Given the description of an element on the screen output the (x, y) to click on. 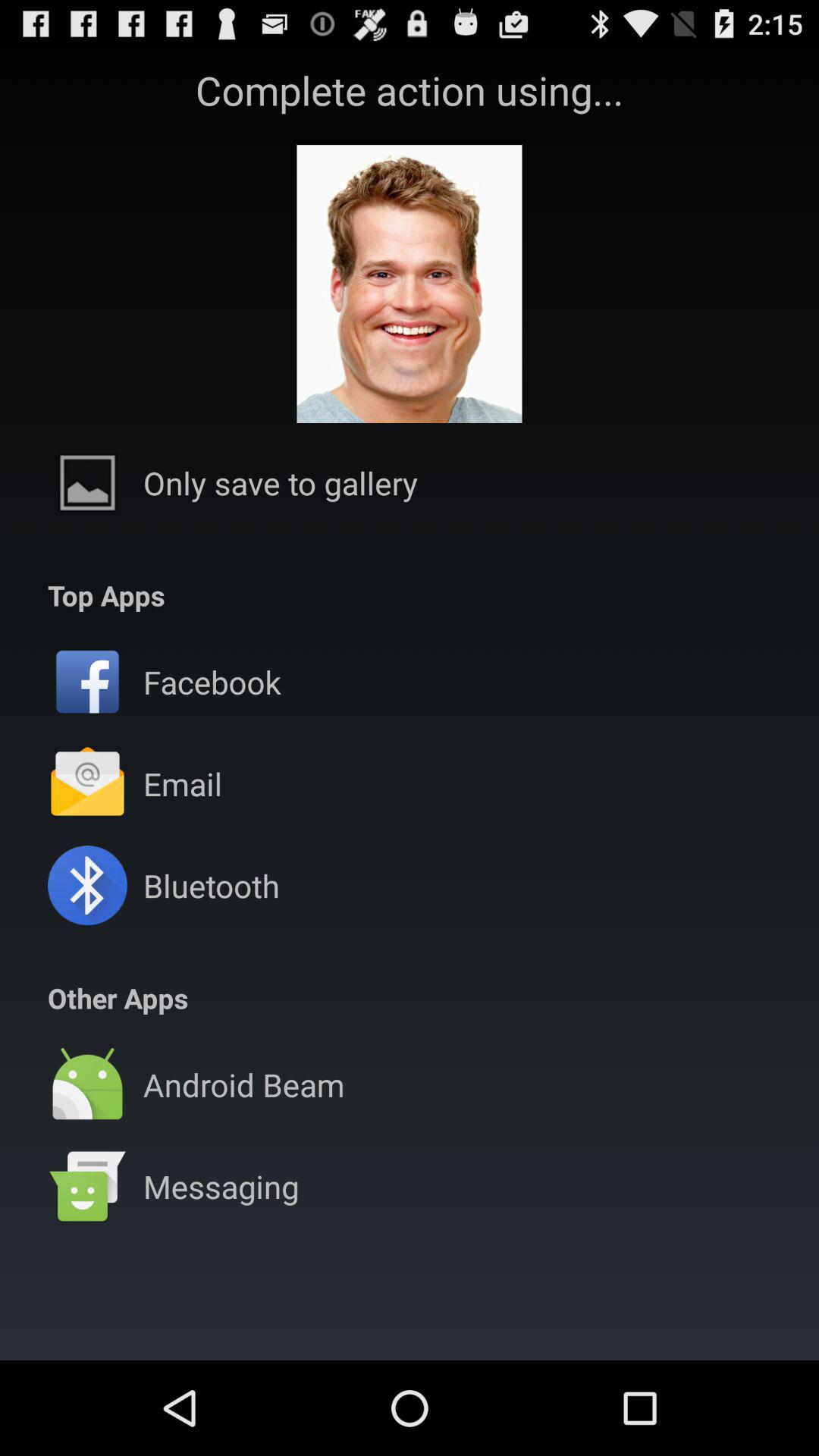
click bluetooth icon (211, 885)
